Given the description of an element on the screen output the (x, y) to click on. 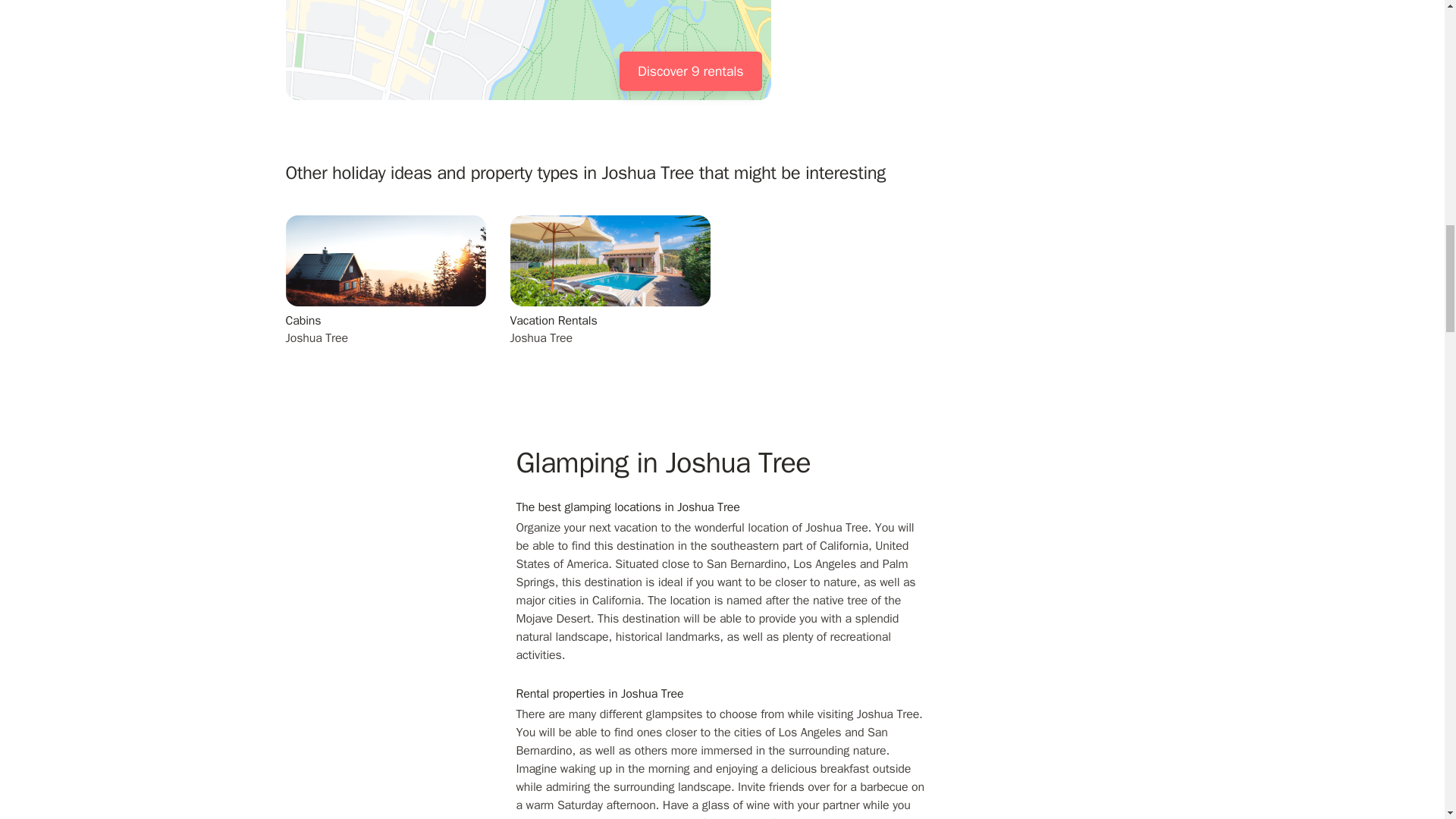
Cabins in Joshua Tree (384, 299)
Discover 9 rentals (527, 49)
Vacation Rentals in Joshua Tree (609, 299)
Discover 9 rentals (690, 70)
